Given the description of an element on the screen output the (x, y) to click on. 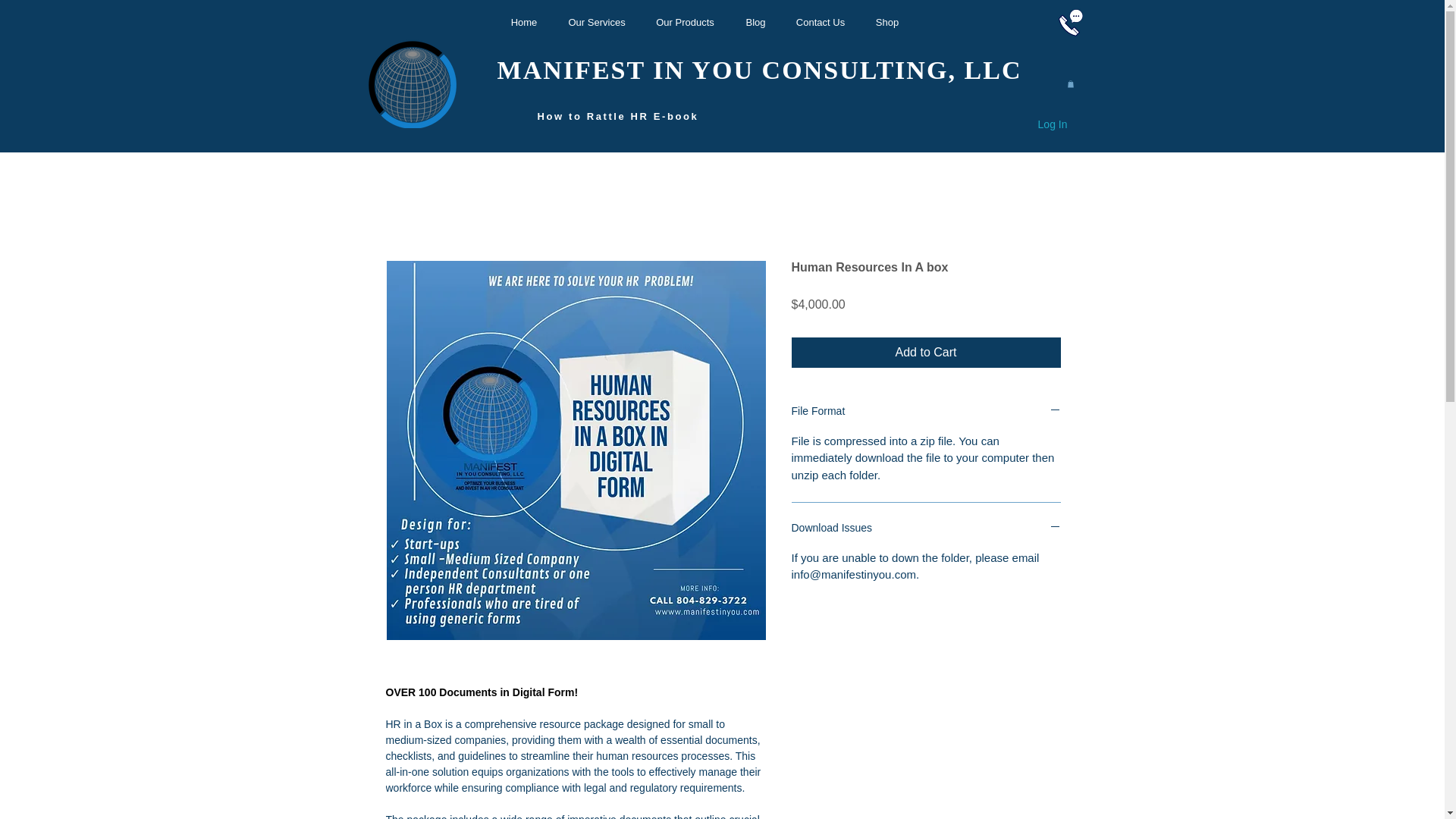
MANIFEST IN YOU CONSULTING, LLC (759, 70)
Blog (755, 22)
Download Issues (926, 528)
Home (524, 22)
Shop (887, 22)
Contact Us (820, 22)
Our Services (596, 22)
Log In (1052, 125)
How to Rattle HR E-book (618, 115)
File Format (926, 412)
Add to Cart (926, 352)
Our Products (685, 22)
